Given the description of an element on the screen output the (x, y) to click on. 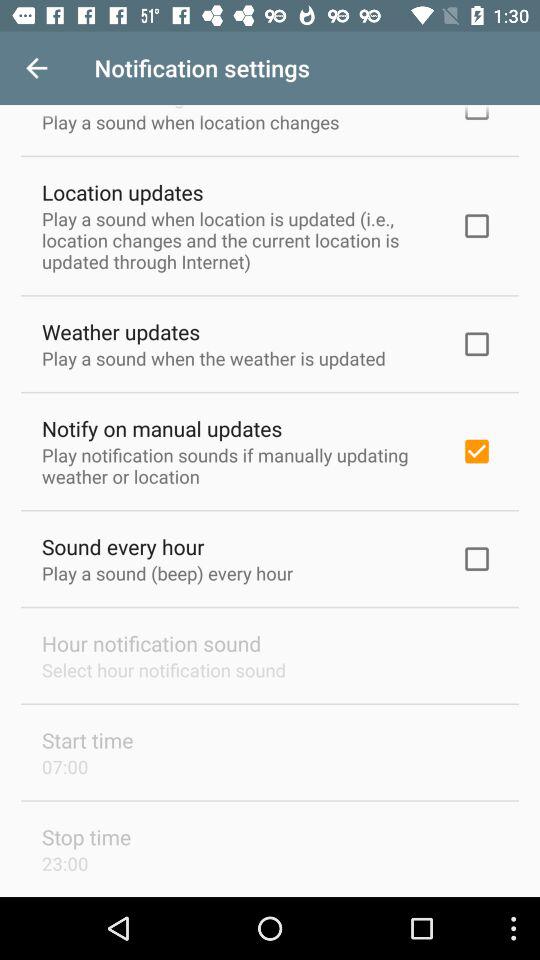
turn on location updates (122, 192)
